Given the description of an element on the screen output the (x, y) to click on. 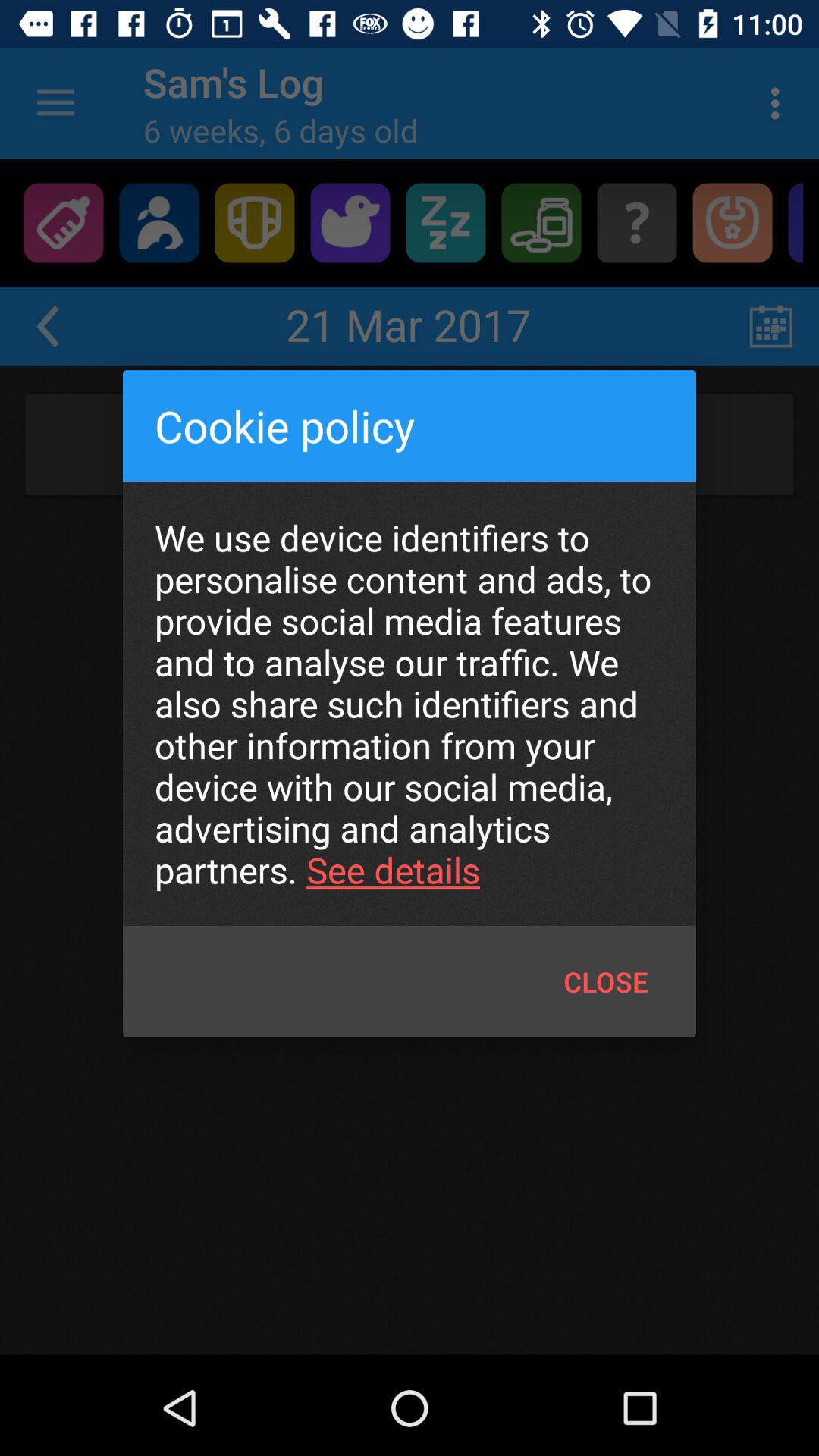
tap close item (605, 981)
